Given the description of an element on the screen output the (x, y) to click on. 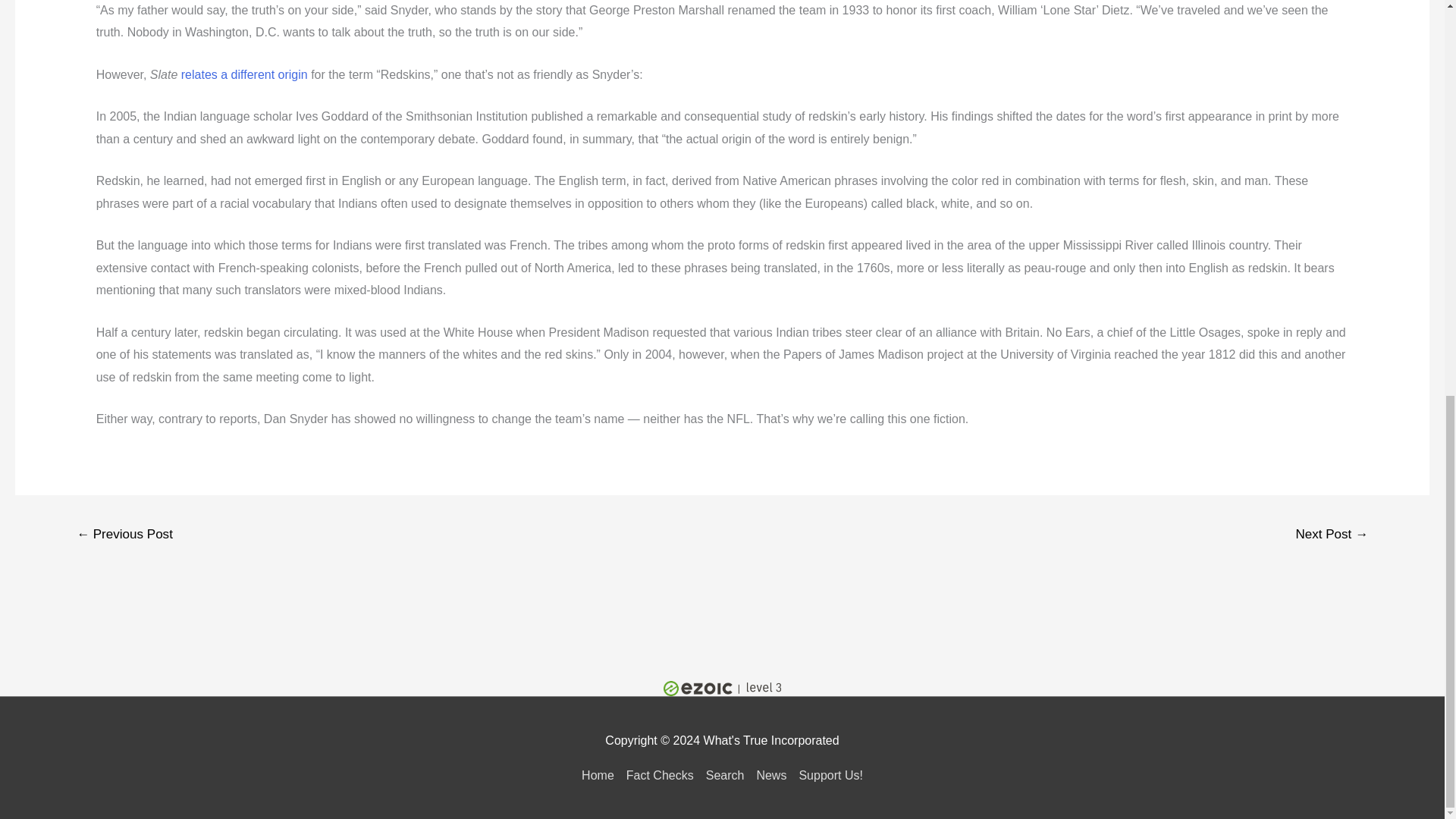
Search (725, 775)
Fact Checks (660, 775)
Home (600, 775)
relates a different origin (243, 74)
Support Us! (826, 775)
News (770, 775)
